Given the description of an element on the screen output the (x, y) to click on. 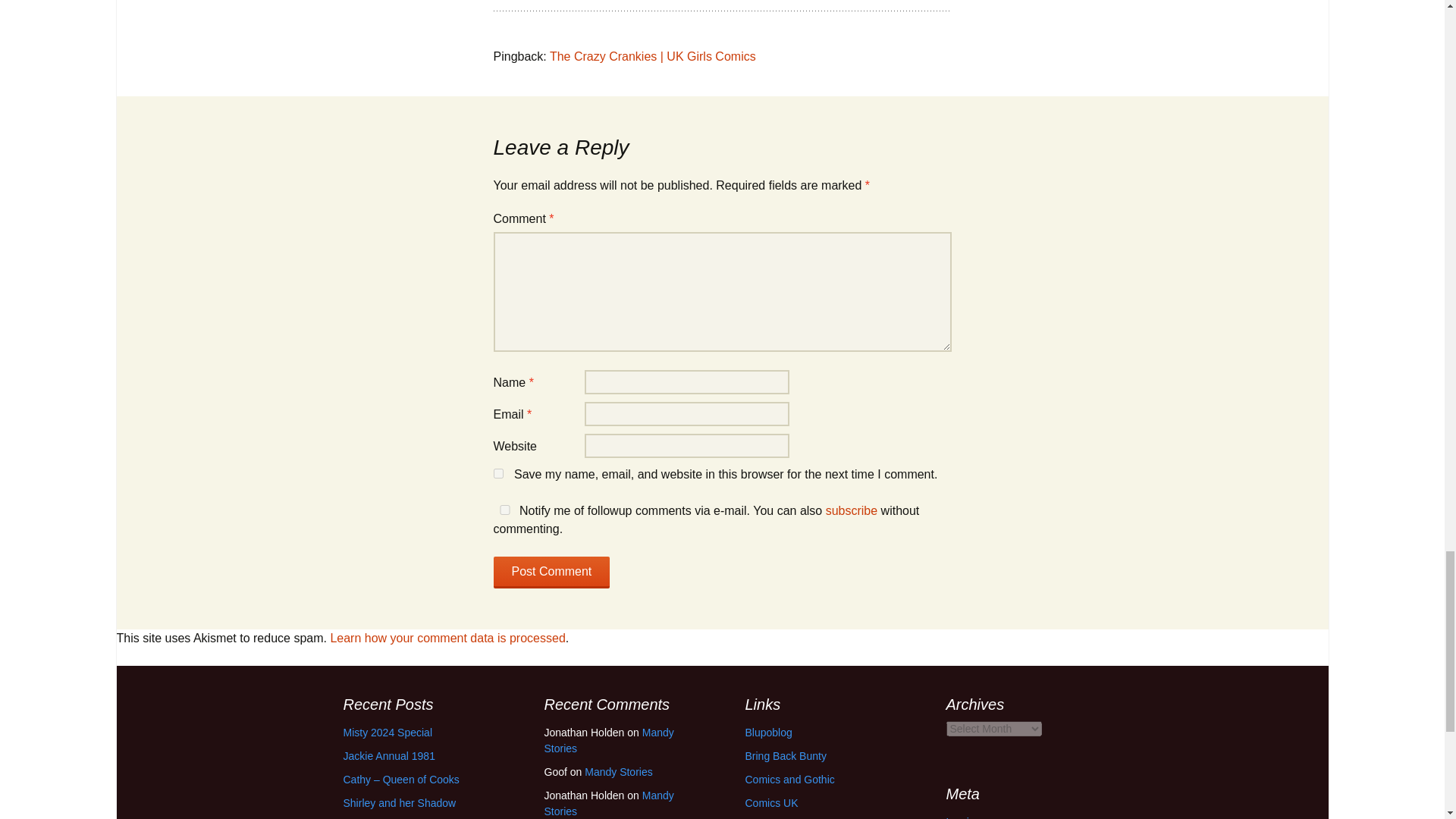
Cool blog on girls comics  (768, 732)
yes (497, 473)
Post Comment (551, 572)
yes (504, 510)
